Given the description of an element on the screen output the (x, y) to click on. 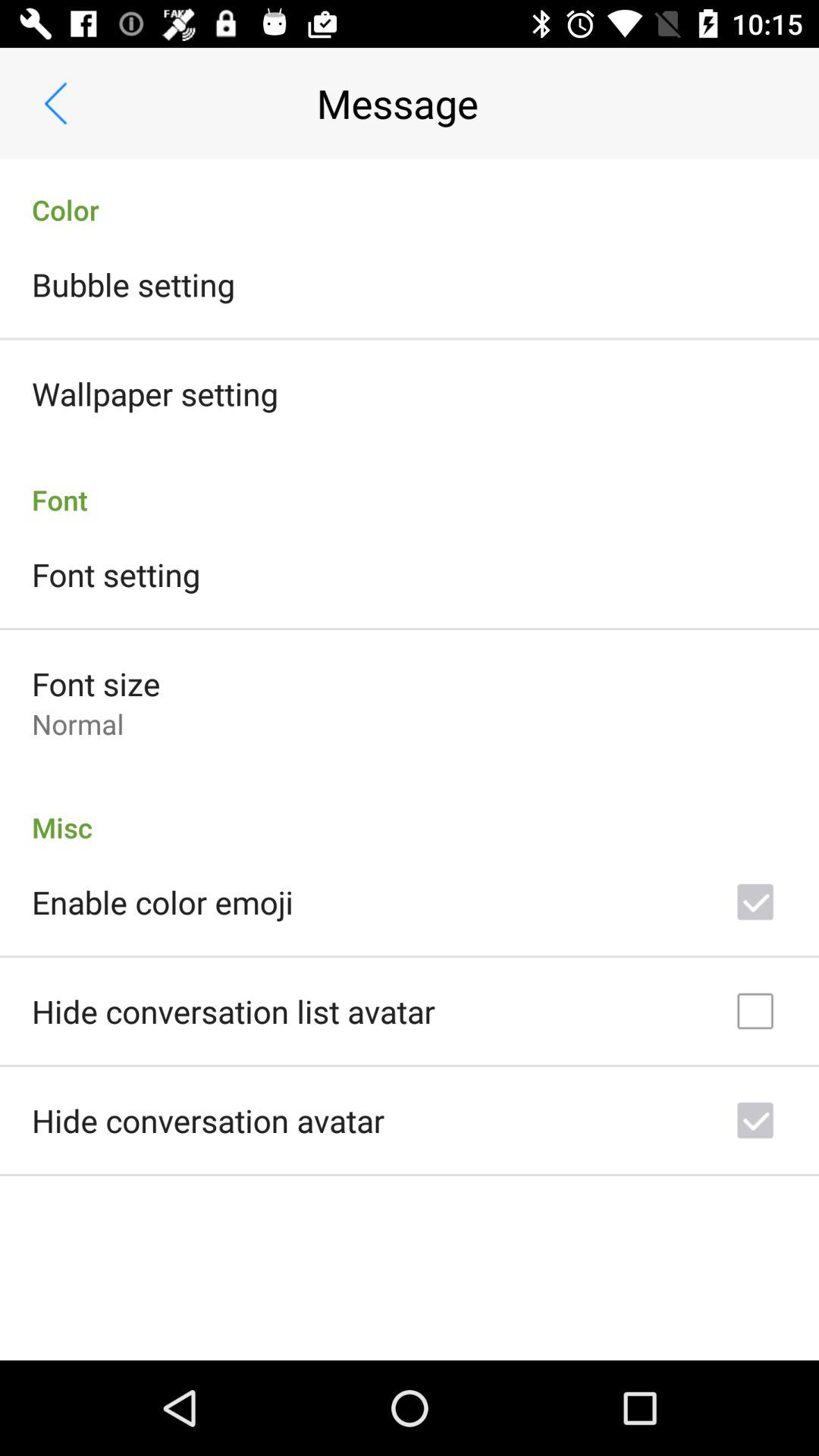
swipe until the bubble setting item (132, 283)
